Given the description of an element on the screen output the (x, y) to click on. 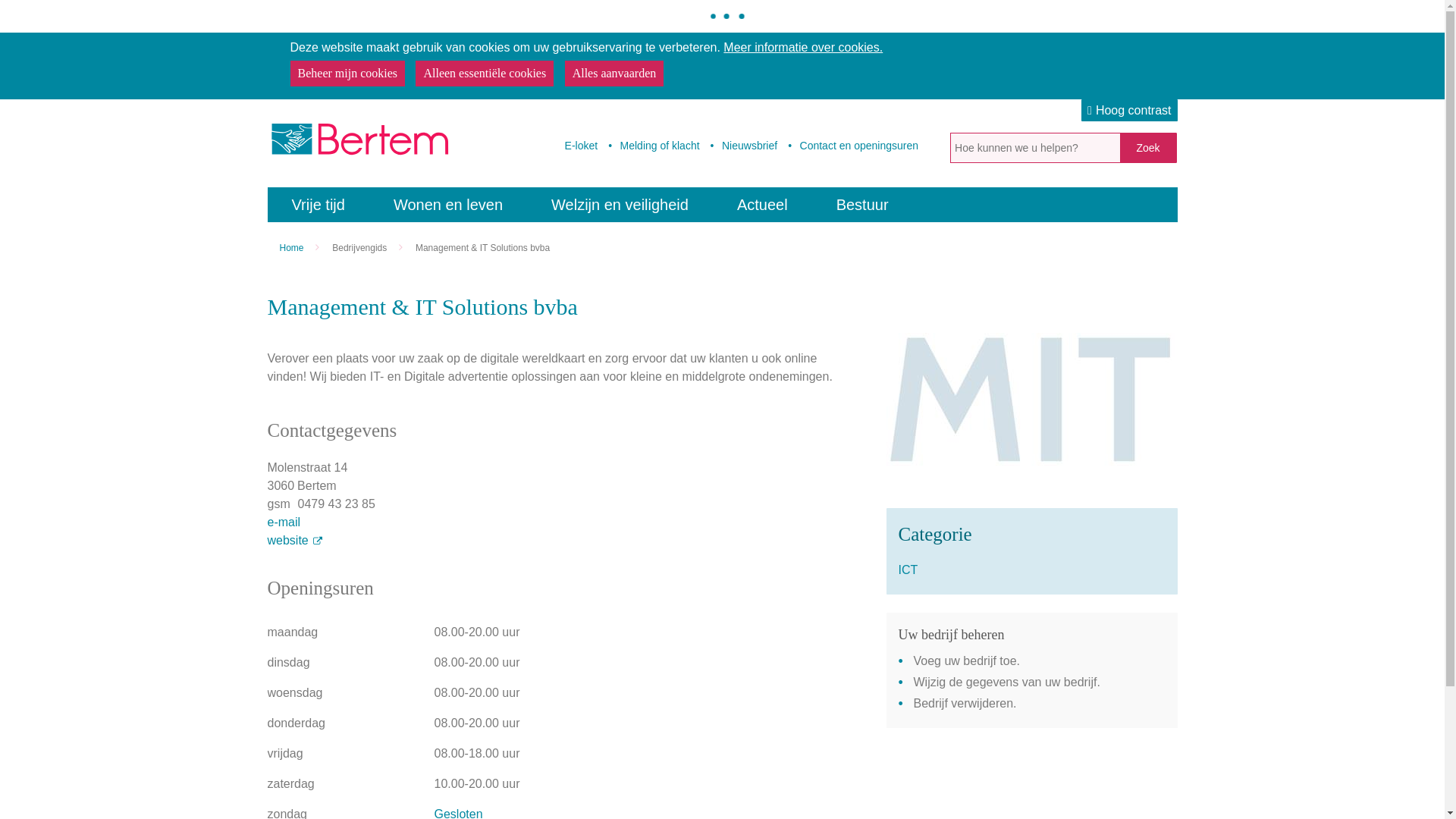
Zoek Element type: text (1147, 147)
Welzijn en veiligheid Element type: text (619, 204)
E-loket Element type: text (574, 145)
ga naar de startpagina Element type: hover (357, 143)
Vrije tijd Element type: text (317, 204)
Wonen en leven Element type: text (448, 204)
website Element type: text (557, 540)
e-mail Element type: text (557, 522)
Hoe kunnen we u helpen? Element type: hover (1147, 147)
Home Element type: text (295, 247)
ICT Element type: text (1030, 570)
Nieuwsbrief Element type: text (741, 145)
Meer informatie over cookies. Element type: text (802, 46)
Hoog contrast Element type: text (1128, 110)
Bestuur Element type: text (862, 204)
Bedrijf verwijderen. Element type: text (1038, 703)
Alles aanvaarden Element type: text (614, 73)
Actueel Element type: text (762, 204)
Wijzig de gegevens van uw bedrijf. Element type: text (1038, 682)
Bedrijvengids Element type: text (363, 247)
Melding of klacht Element type: text (651, 145)
Beheer mijn cookies Element type: text (346, 73)
Contact en openingsuren Element type: text (850, 145)
Hoe kunnen we u helpen? Element type: hover (1034, 147)
Voeg uw bedrijf toe. Element type: text (1038, 661)
